Given the description of an element on the screen output the (x, y) to click on. 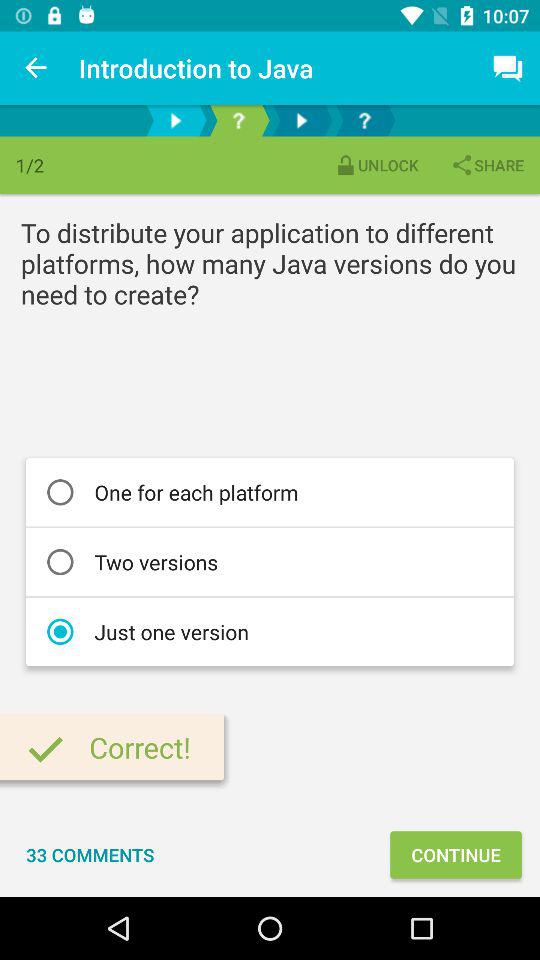
launch the item to the right of the 33 comments icon (455, 854)
